Given the description of an element on the screen output the (x, y) to click on. 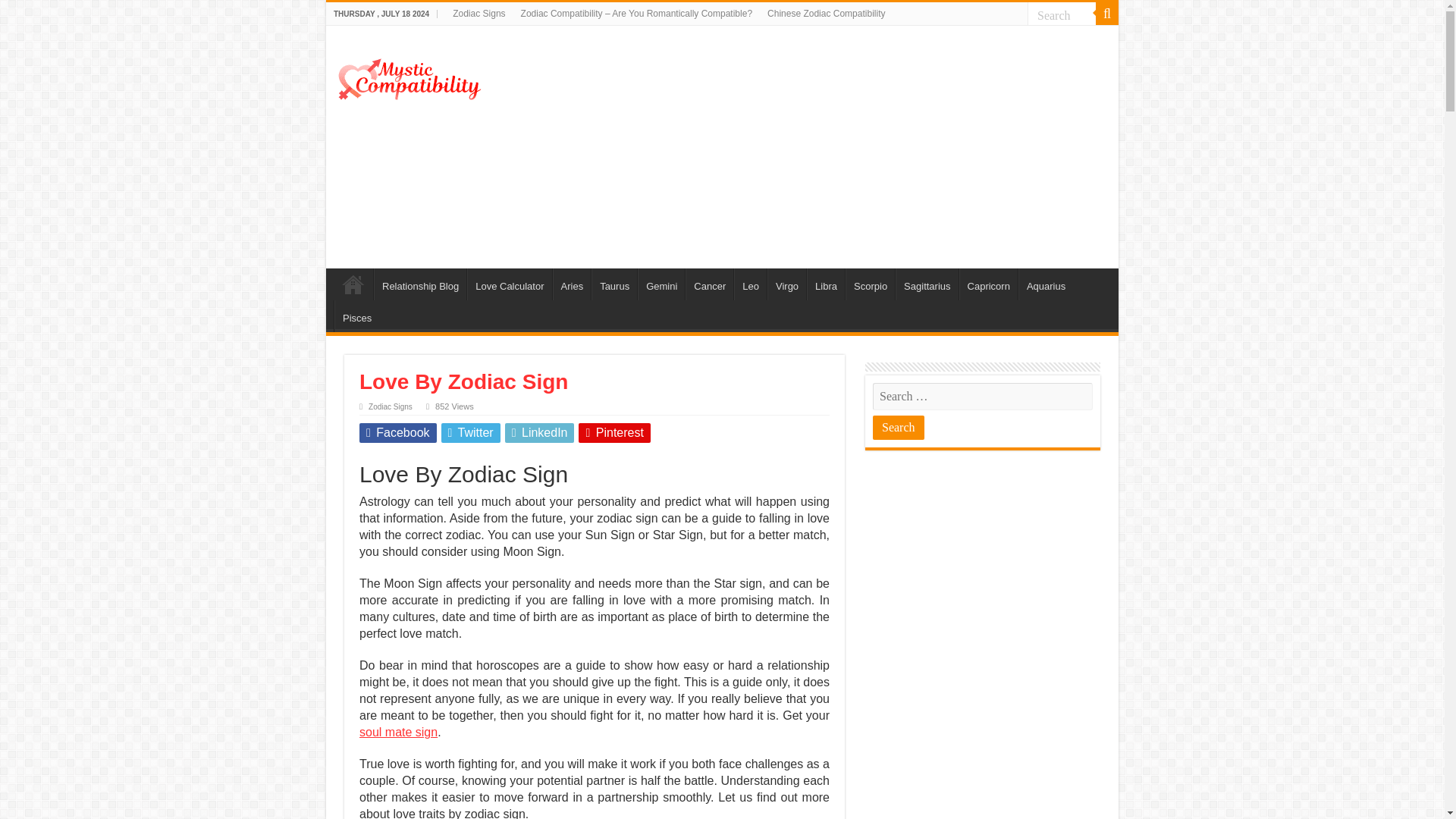
Taurus (614, 284)
Aries (572, 284)
Search (1061, 15)
Libra (825, 284)
Love Calculator (509, 284)
Zodiac Signs (478, 13)
Search (1061, 15)
Scorpio (870, 284)
Cancer (709, 284)
Leo (750, 284)
Virgo (786, 284)
Capricorn (988, 284)
Sagittarius (926, 284)
Search (1107, 13)
Relationship Blog (419, 284)
